Given the description of an element on the screen output the (x, y) to click on. 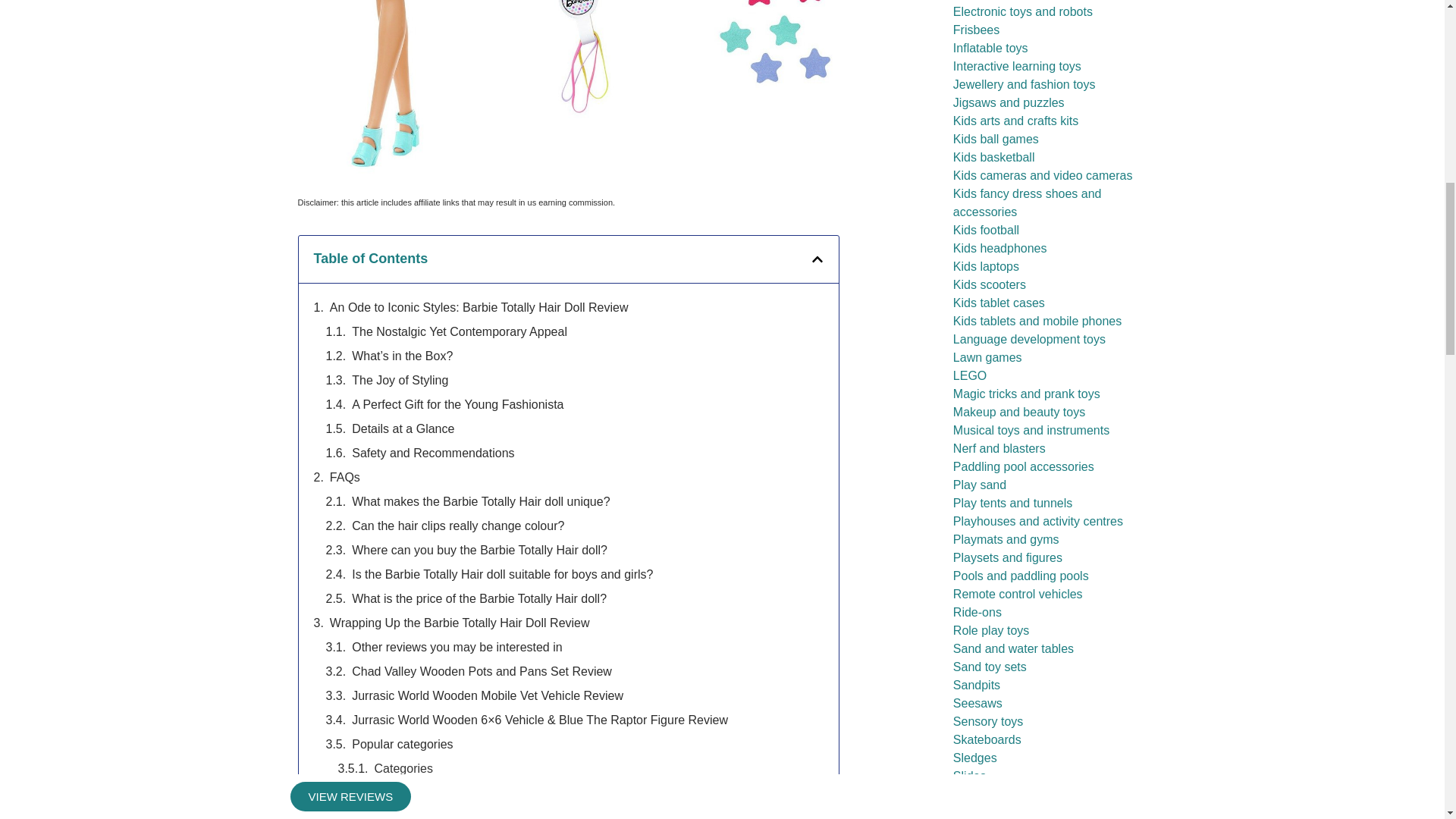
Safety and Recommendations (432, 453)
Is the Barbie Totally Hair doll suitable for boys and girls? (502, 574)
Chad Valley Wooden Pots and Pans Set Review (481, 671)
The Nostalgic Yet Contemporary Appeal (459, 331)
Other reviews you may be interested in (457, 647)
Jurrasic World Wooden Mobile Vet Vehicle Review (487, 696)
What makes the Barbie Totally Hair doll unique? (481, 502)
What is the price of the Barbie Totally Hair doll? (479, 598)
Details at a Glance (403, 429)
Categories (403, 769)
Popular categories (402, 744)
An Ode to Iconic Styles: Barbie Totally Hair Doll Review (479, 307)
Where can you buy the Barbie Totally Hair doll? (479, 550)
A Perfect Gift for the Young Fashionista (457, 404)
The Joy of Styling (400, 380)
